Given the description of an element on the screen output the (x, y) to click on. 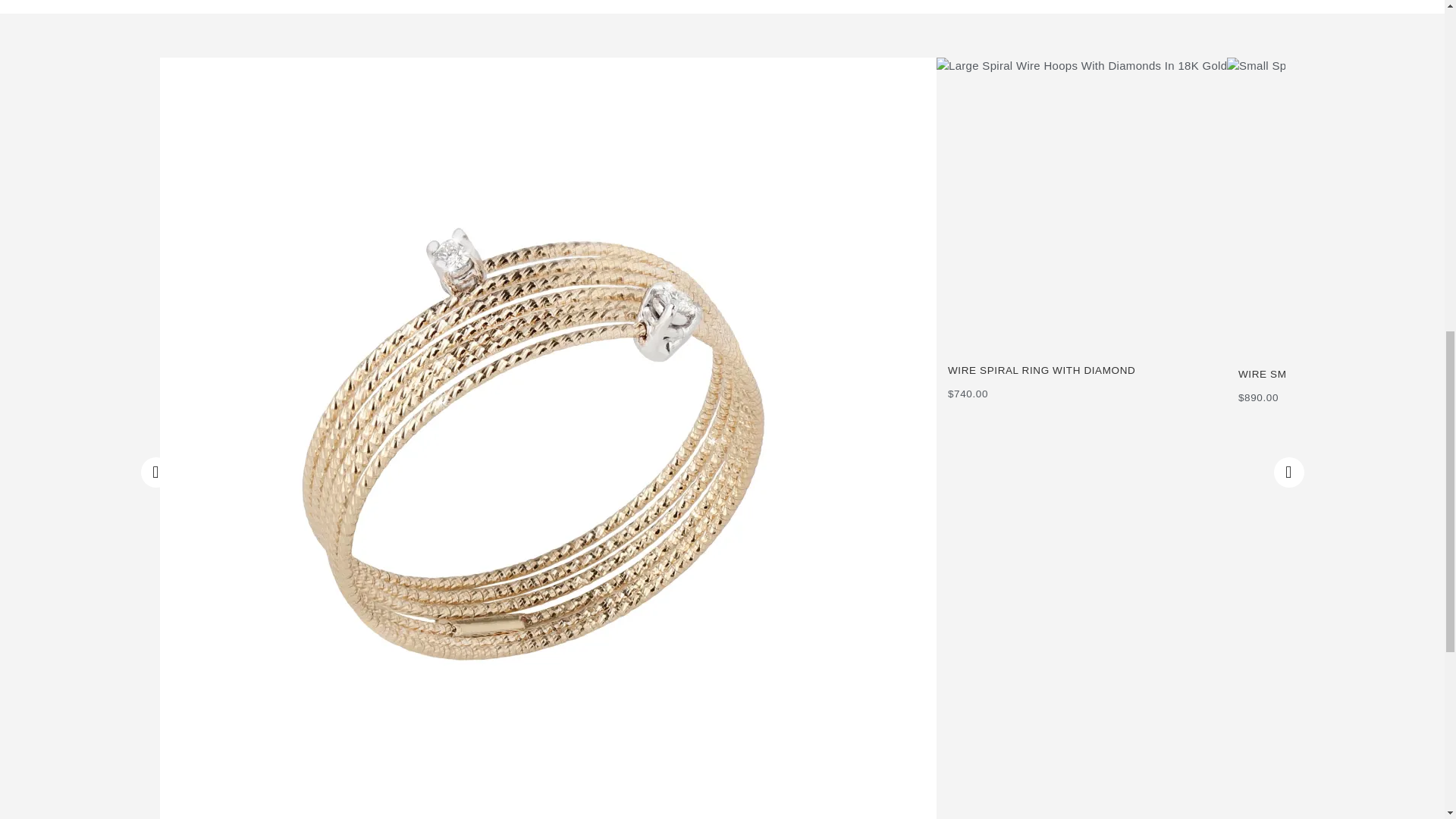
WIRE SPIRAL RING WITH DIAMOND (1087, 371)
